Given the description of an element on the screen output the (x, y) to click on. 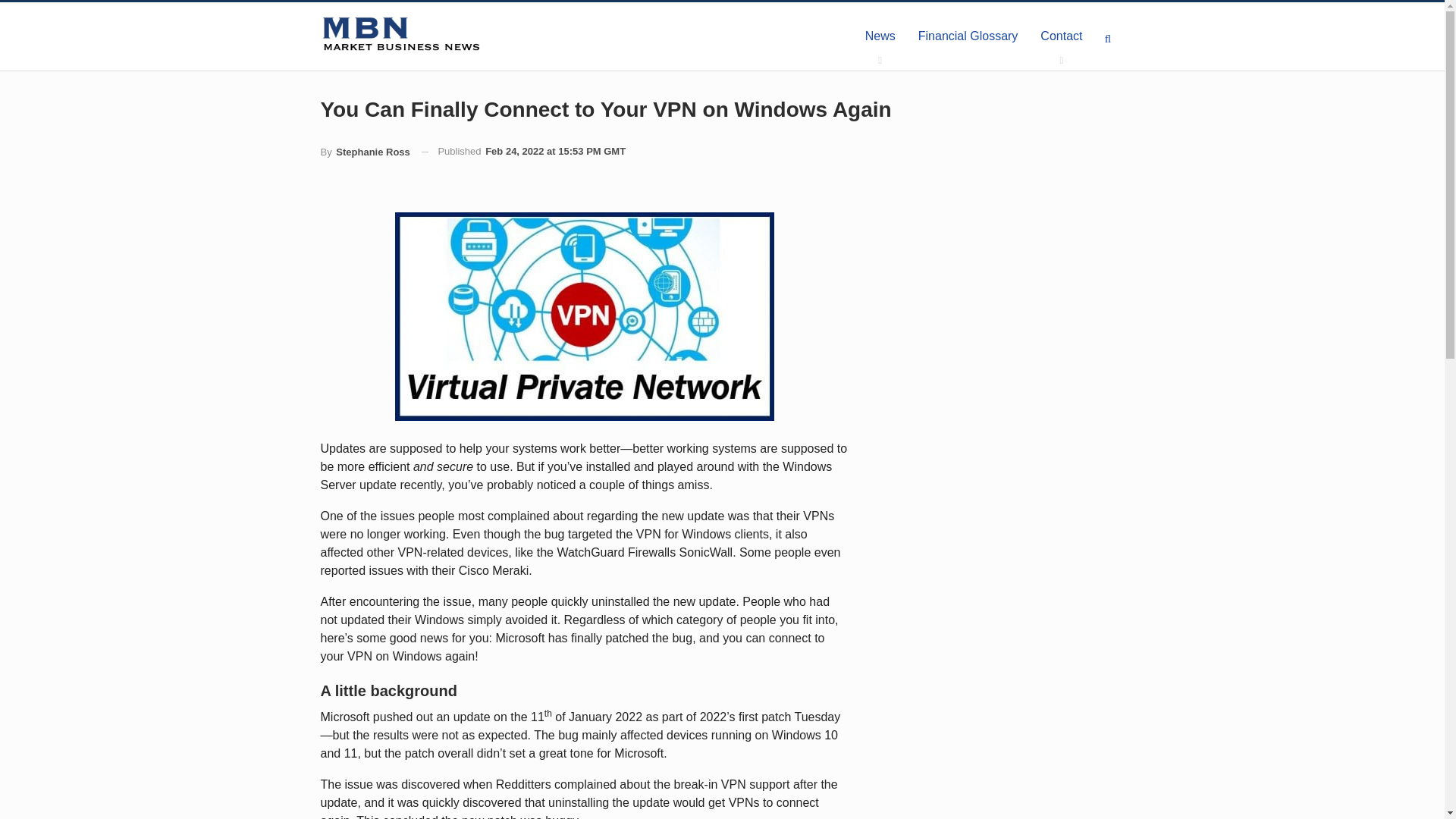
By Stephanie Ross (364, 152)
News (880, 36)
Financial Glossary (968, 36)
Contact (1061, 36)
Browse Author Articles (364, 152)
